Given the description of an element on the screen output the (x, y) to click on. 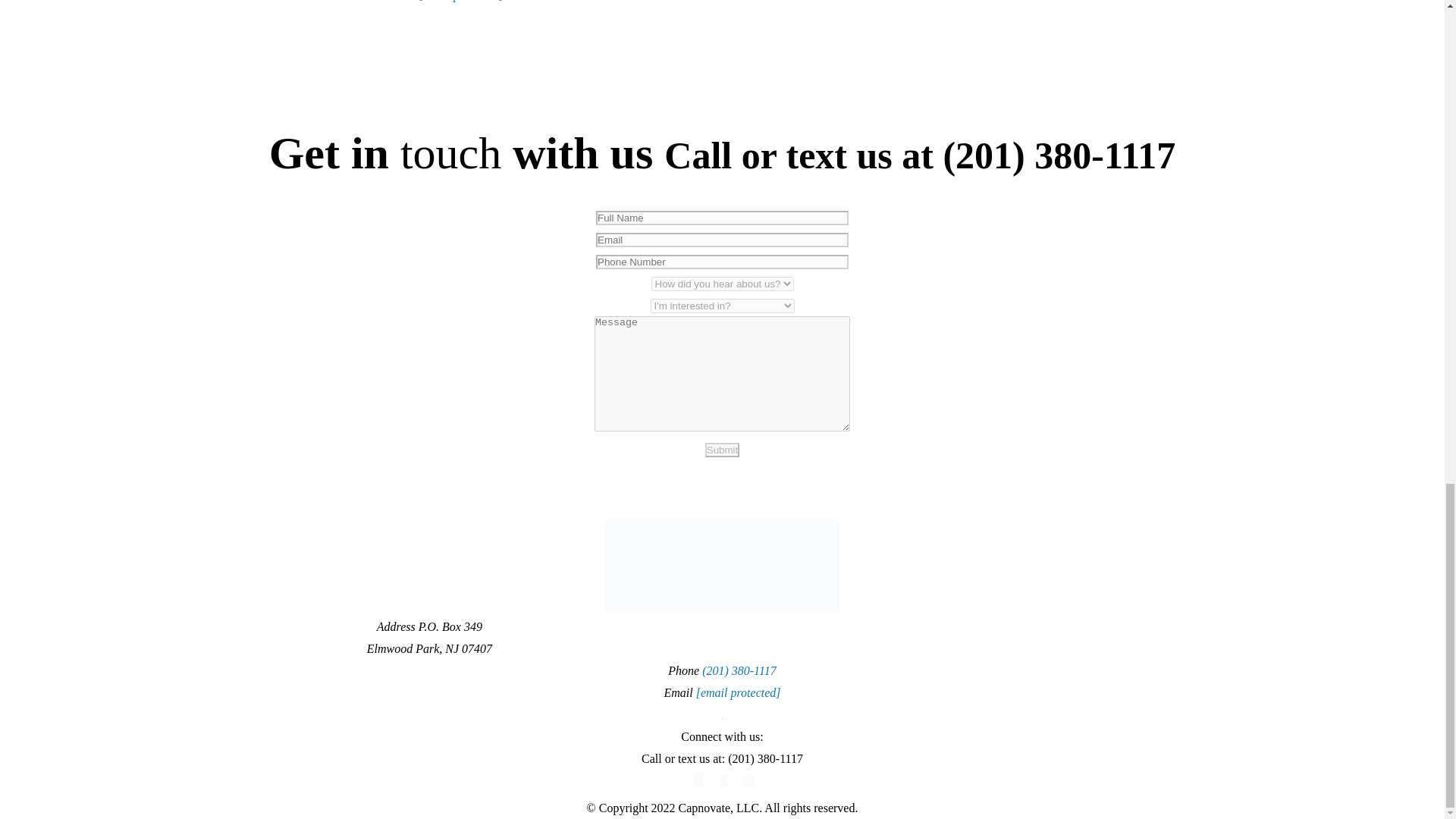
OUR WORK (1085, 627)
Submit (721, 450)
HOME (894, 627)
CONTACT US (1281, 627)
ABOUT US (1181, 627)
Submit (721, 450)
WHAT WE DO (984, 627)
